Given the description of an element on the screen output the (x, y) to click on. 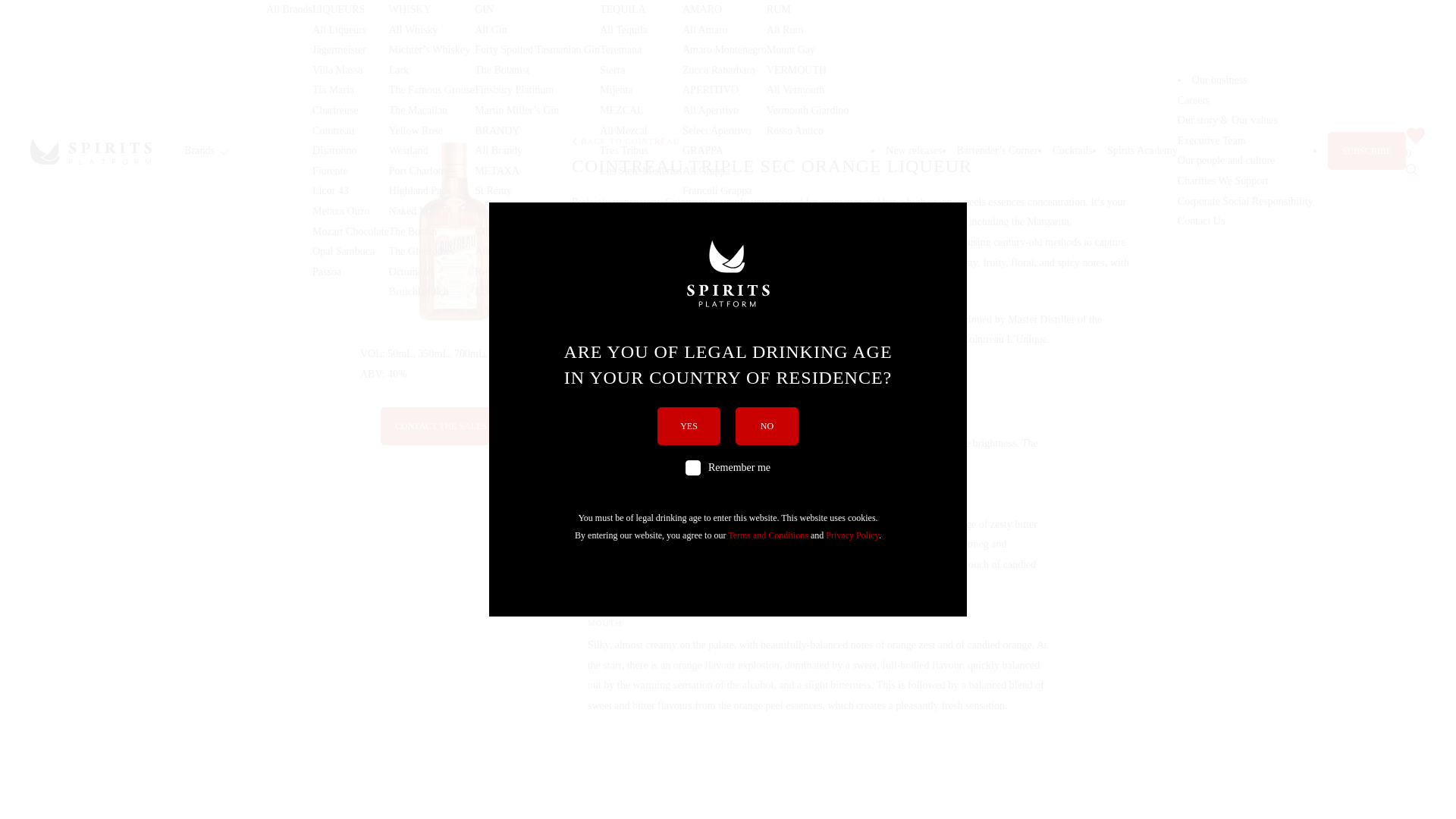
The Macallan (417, 110)
Fiorente (330, 170)
Passoa (326, 271)
Chartreuse (335, 110)
Mozart Chocolate (350, 231)
Port Charlotte (418, 170)
Disaronno (334, 150)
WHISKY (409, 9)
Westland (408, 150)
Cointreau (333, 130)
